Given the description of an element on the screen output the (x, y) to click on. 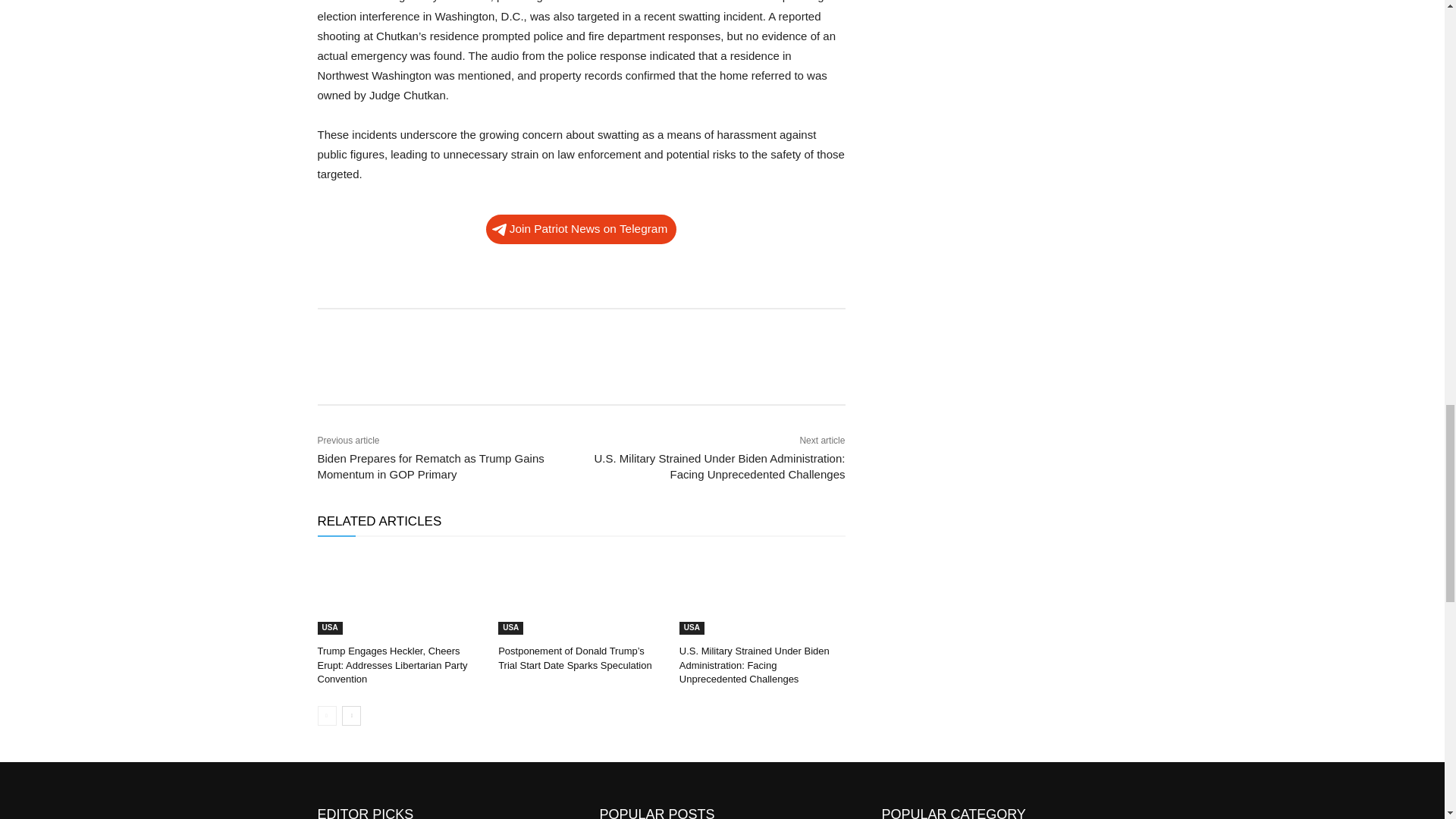
USA (329, 627)
Join Patriot News on Telegram (581, 229)
